Given the description of an element on the screen output the (x, y) to click on. 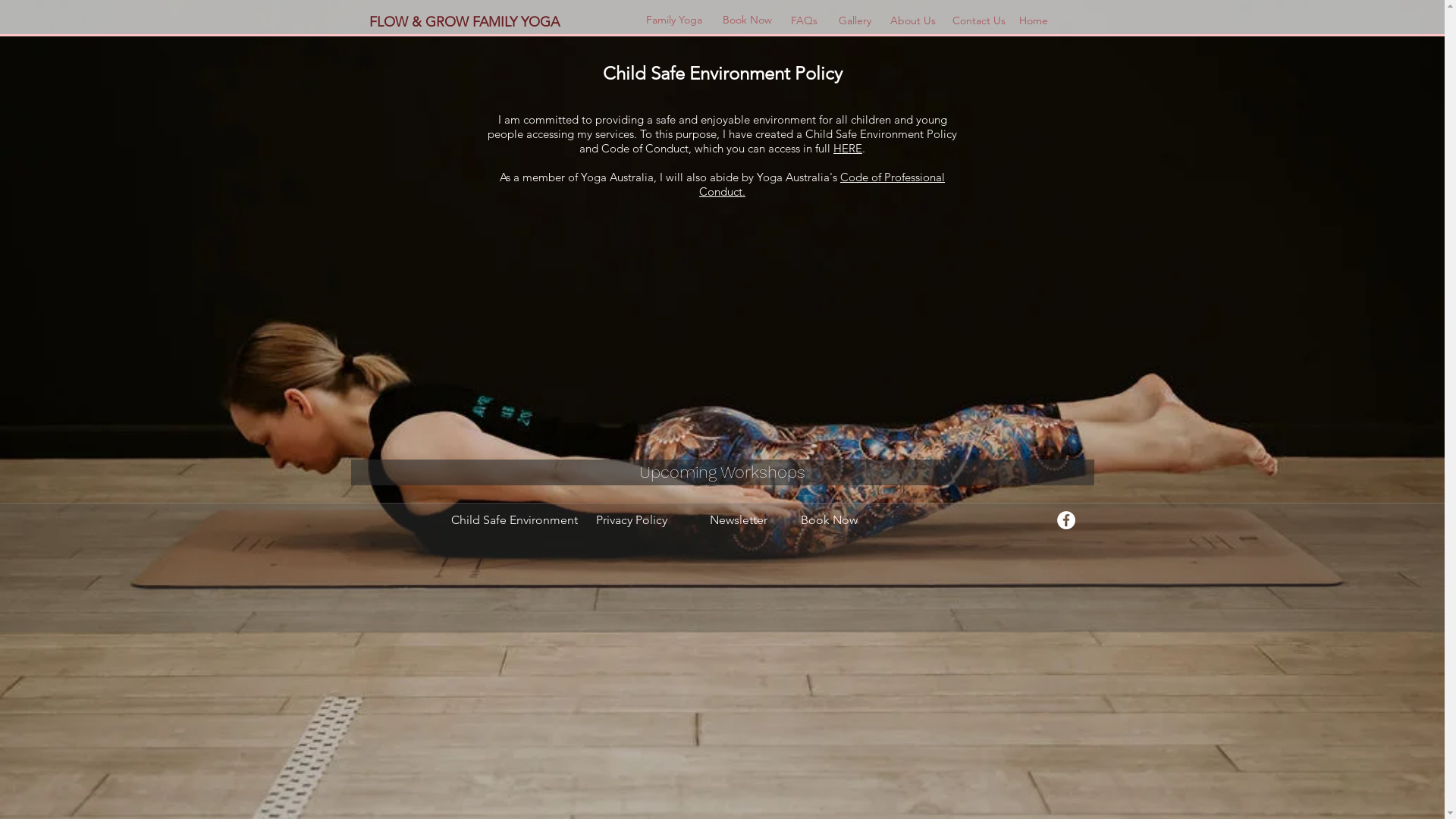
FLOW & GROW FAMILY YOGA Element type: text (471, 22)
Newsletter Element type: text (736, 519)
Family Yoga Element type: text (673, 20)
Contact Us Element type: text (979, 20)
Home Element type: text (1041, 20)
Privacy Policy Element type: text (634, 519)
About Us Element type: text (912, 20)
Child Safe Environment Element type: text (510, 519)
Code of Professional Conduct. Element type: text (821, 183)
Book Now Element type: text (827, 519)
Book Now Element type: text (747, 20)
Gallery Element type: text (855, 20)
HERE Element type: text (847, 148)
FAQs Element type: text (803, 20)
Upcoming Workshops Element type: text (721, 472)
